Given the description of an element on the screen output the (x, y) to click on. 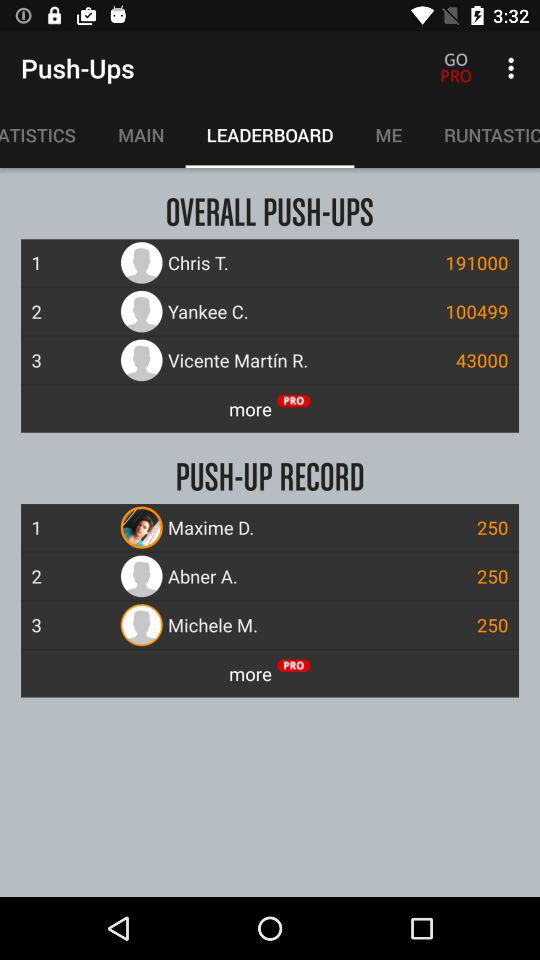
choose icon next to me icon (481, 135)
